Given the description of an element on the screen output the (x, y) to click on. 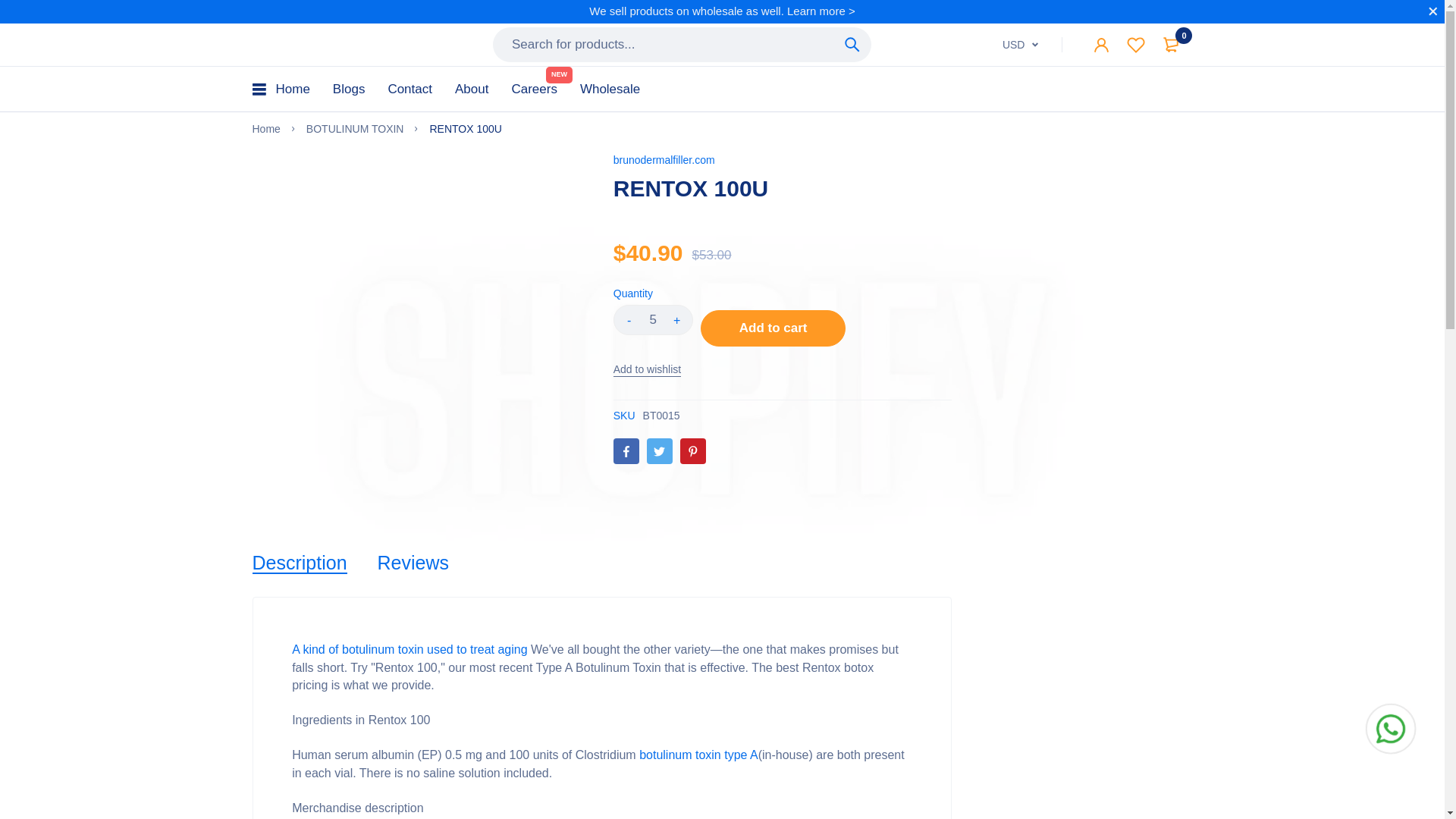
brunodermalfiller.com (663, 159)
BOTULINUM TOXIN (354, 128)
A kind of botulinum toxin used to treat aging (409, 649)
Pinterest (692, 451)
Home (265, 128)
Description (298, 562)
Reviews (412, 562)
Add to wishlist (646, 368)
Wholesale (609, 88)
- (628, 319)
5 (652, 319)
Careers (533, 88)
Home (293, 88)
brunodermalfiller.com (315, 44)
Contact (409, 88)
